Given the description of an element on the screen output the (x, y) to click on. 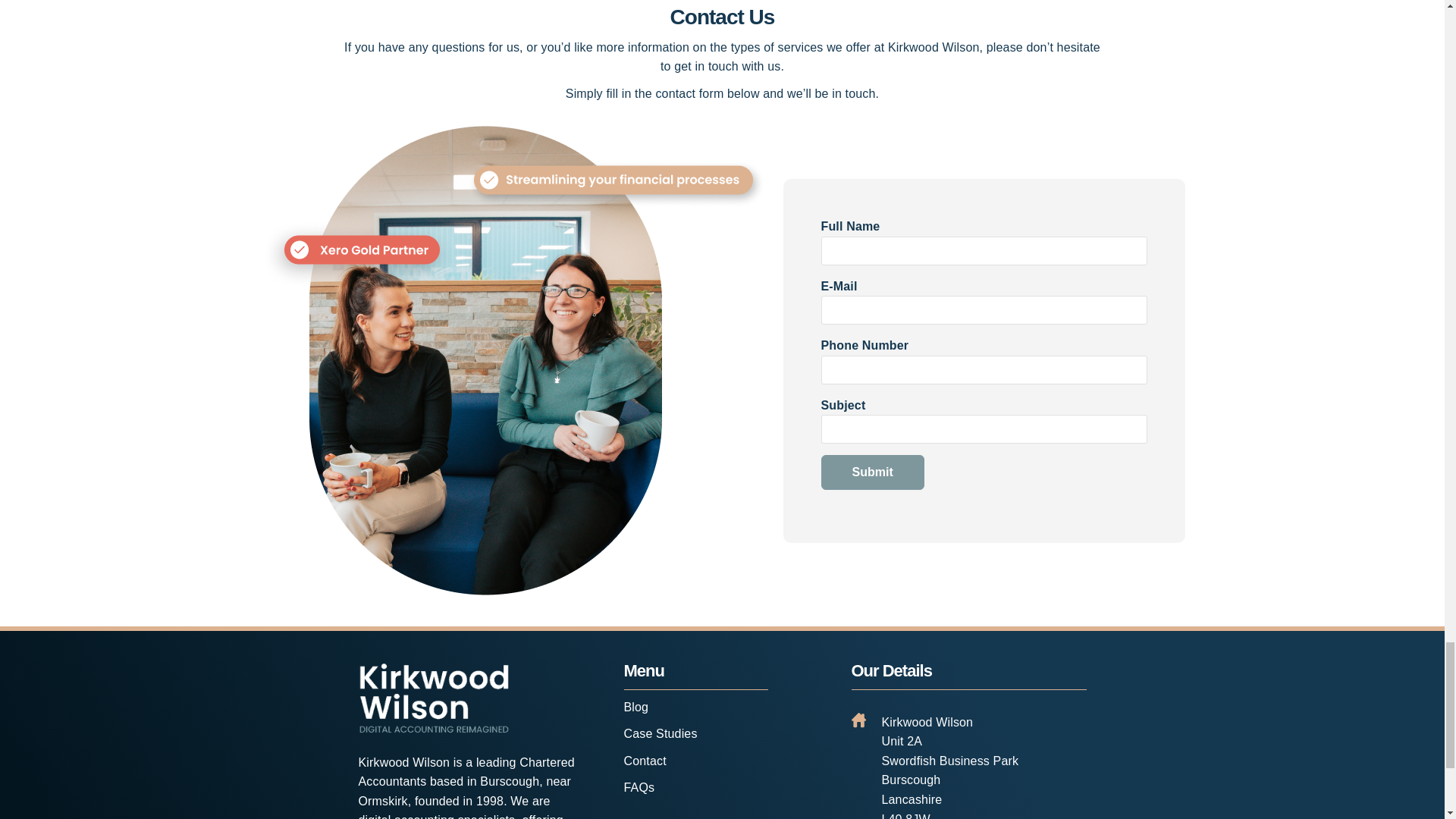
Submit (872, 472)
Submit (872, 472)
Blog (635, 707)
